Given the description of an element on the screen output the (x, y) to click on. 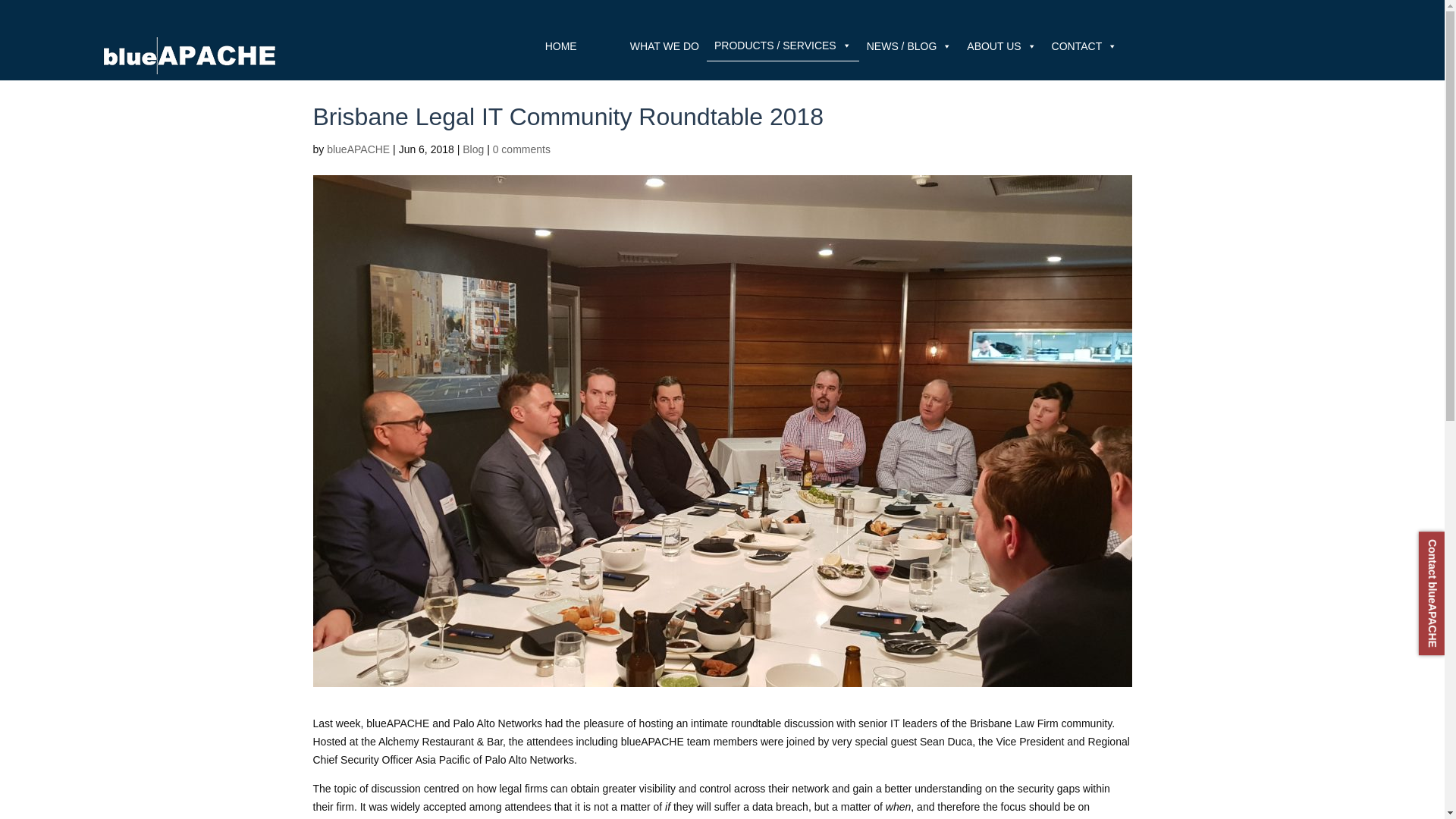
ABOUT US (1001, 45)
WHAT WE DO (664, 45)
HOME (564, 45)
Posts by blueAPACHE (358, 149)
